Given the description of an element on the screen output the (x, y) to click on. 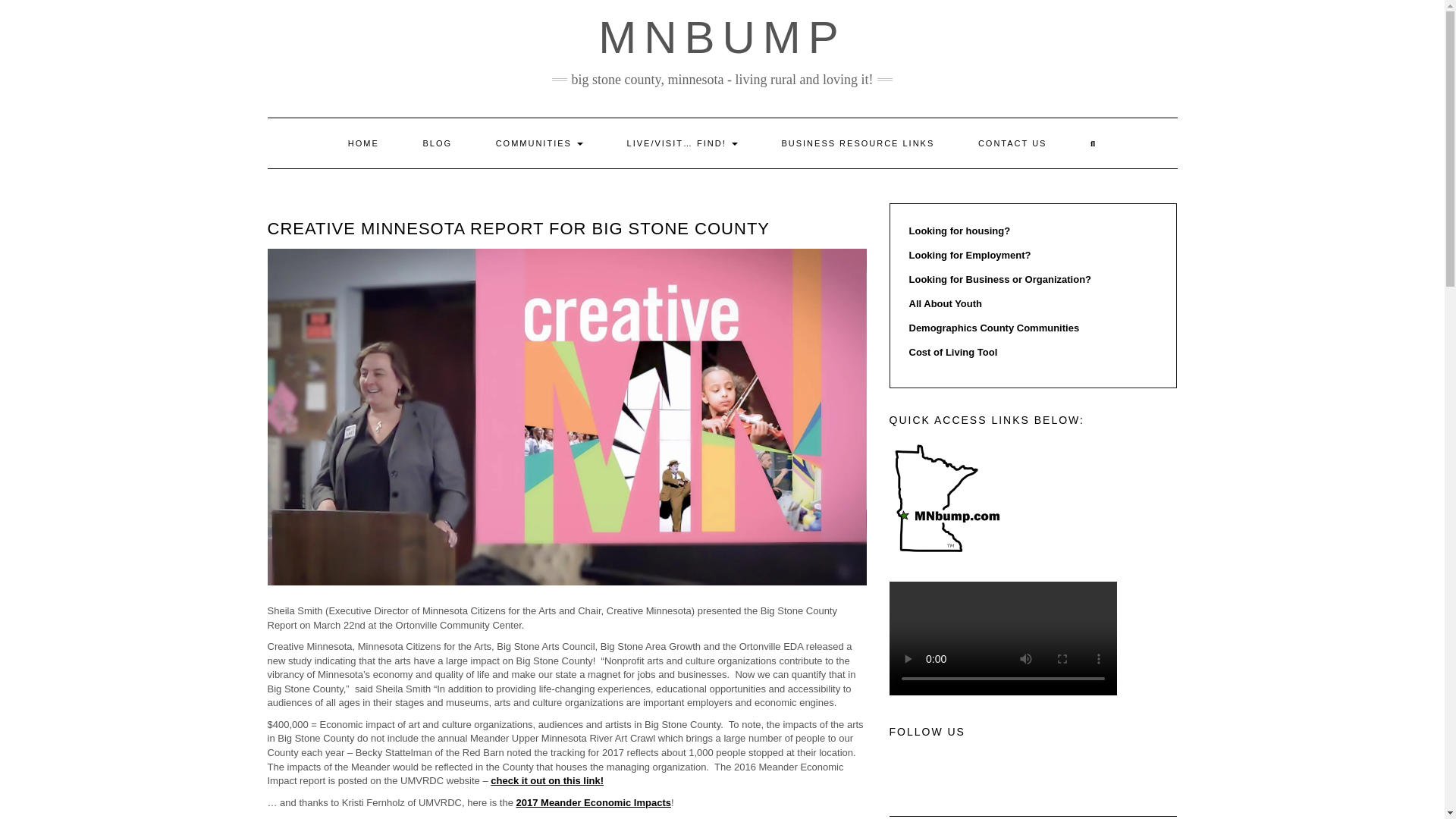
BLOG (436, 142)
MNBUMP (721, 37)
HOME (362, 142)
Quick Access Links (945, 498)
Link to report (752, 818)
COMMUNITIES (540, 142)
check it out on this link! (547, 780)
BUSINESS RESOURCE LINKS (857, 142)
2017 Meander Economic Impacts (593, 802)
CONTACT US (1012, 142)
